Given the description of an element on the screen output the (x, y) to click on. 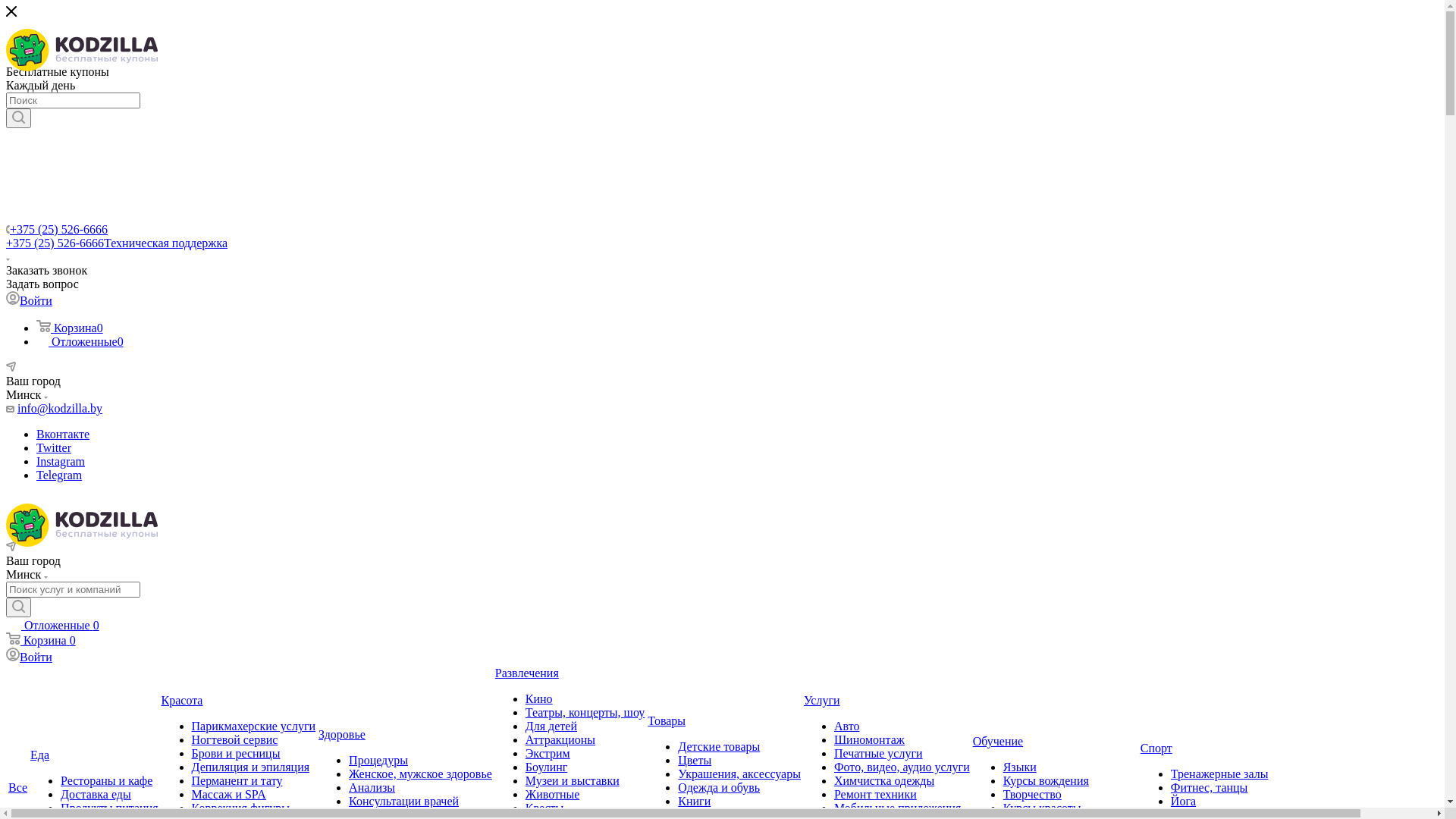
Twitter Element type: text (53, 447)
+375 (25) 526-6666 Element type: text (58, 228)
Instagram Element type: text (60, 461)
info@kodzilla.by Element type: text (59, 407)
Telegram Element type: text (58, 474)
